Given the description of an element on the screen output the (x, y) to click on. 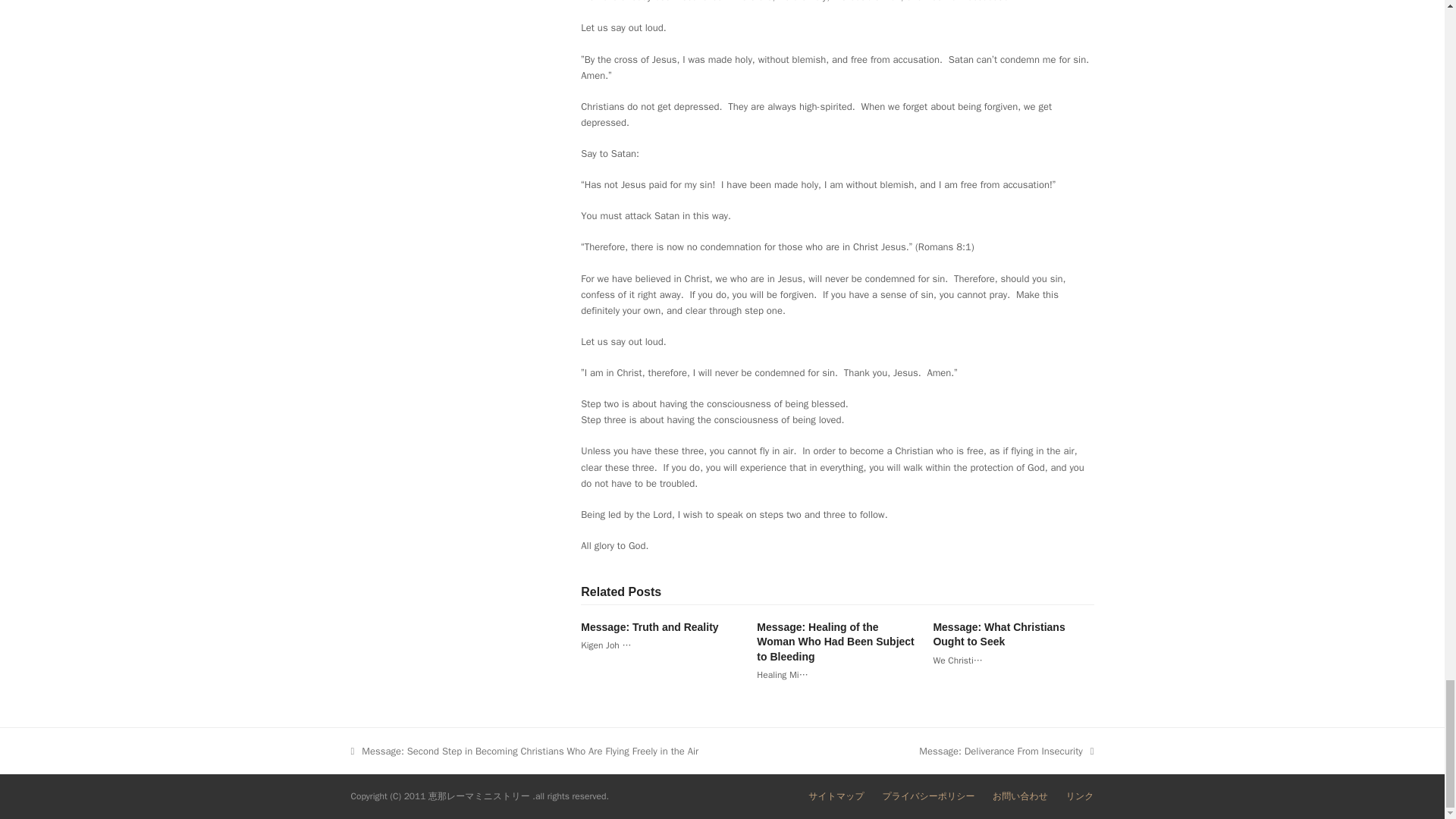
Message: What Christians Ought to Seek (998, 633)
Message: Truth and Reality (648, 626)
